Given the description of an element on the screen output the (x, y) to click on. 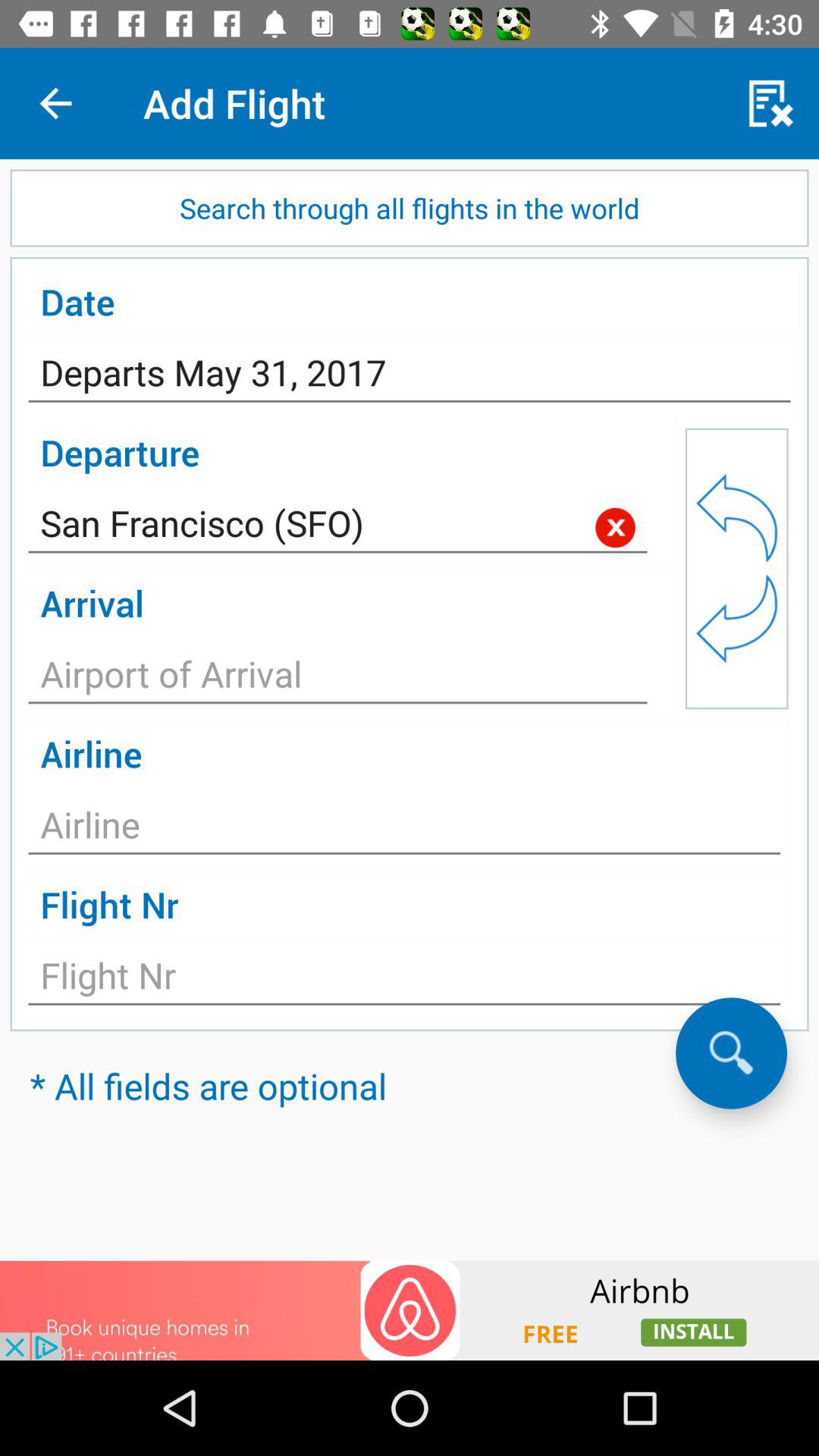
flightnr (404, 979)
